Given the description of an element on the screen output the (x, y) to click on. 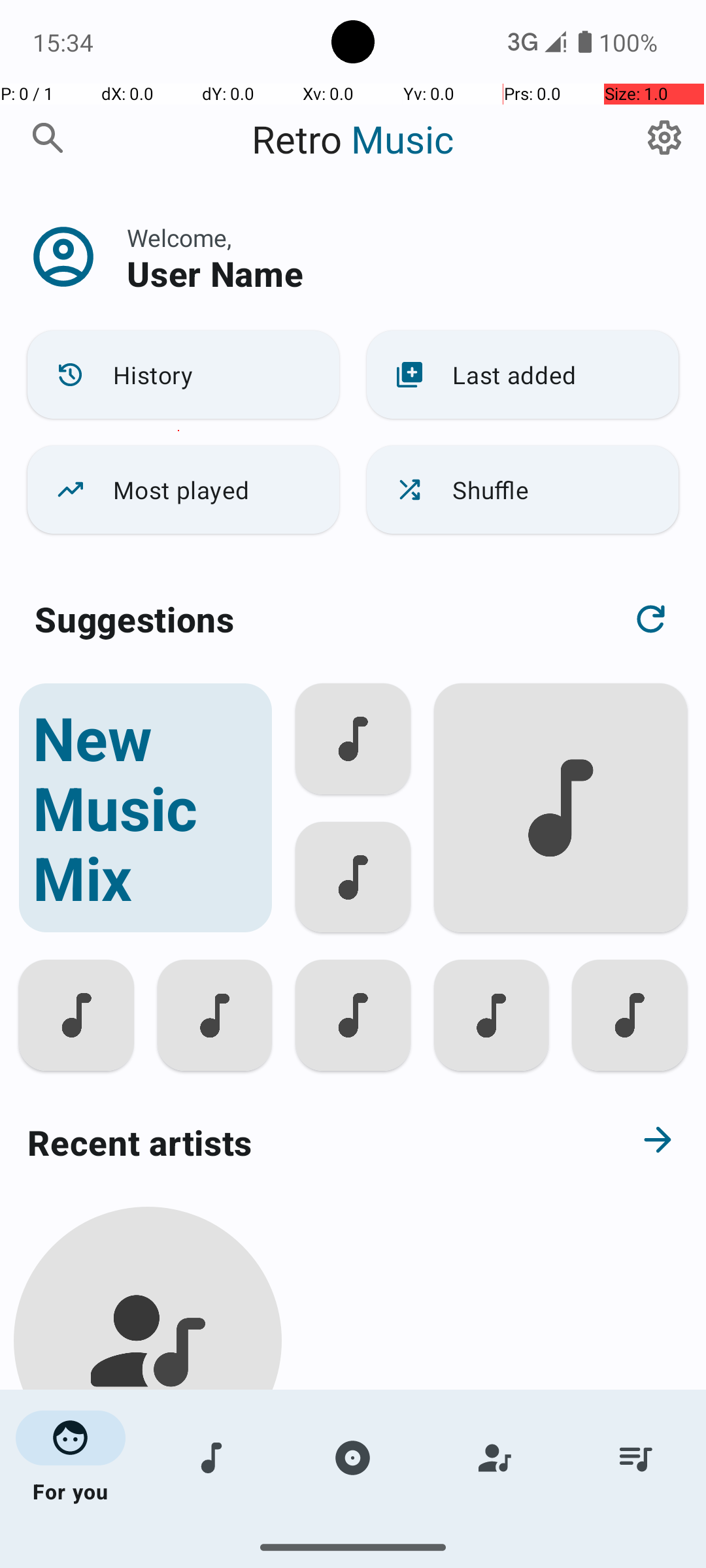
Sophie Element type: android.widget.TextView (147, 1503)
